Given the description of an element on the screen output the (x, y) to click on. 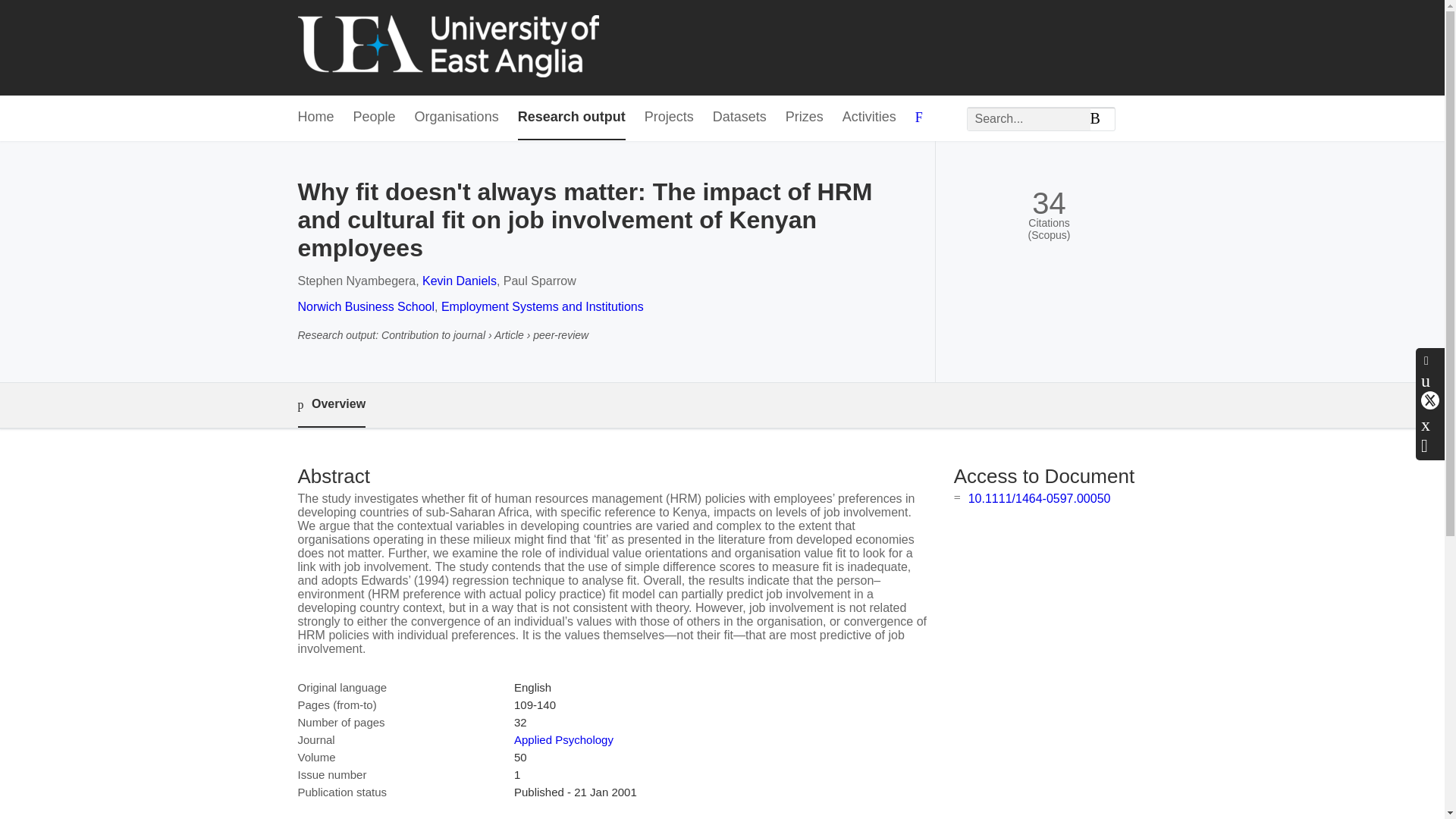
Research output (572, 117)
Organisations (456, 117)
Kevin Daniels (459, 280)
Employment Systems and Institutions (542, 306)
Overview (331, 405)
Datasets (740, 117)
University of East Anglia Home (447, 47)
Applied Psychology (562, 739)
Activities (869, 117)
Norwich Business School (365, 306)
